Given the description of an element on the screen output the (x, y) to click on. 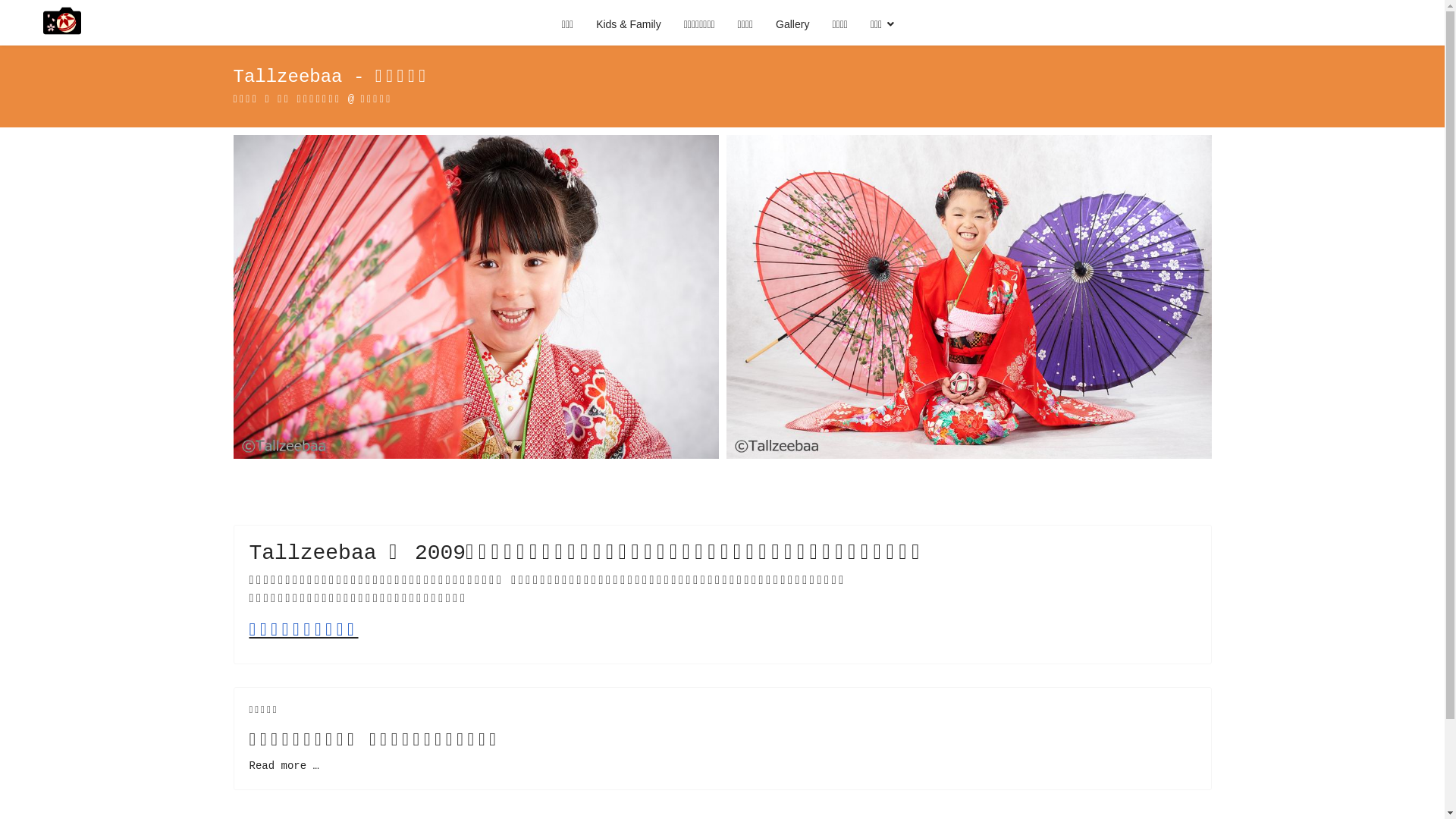
Gallery Element type: text (792, 24)
Kids & Family Element type: text (628, 24)
